Given the description of an element on the screen output the (x, y) to click on. 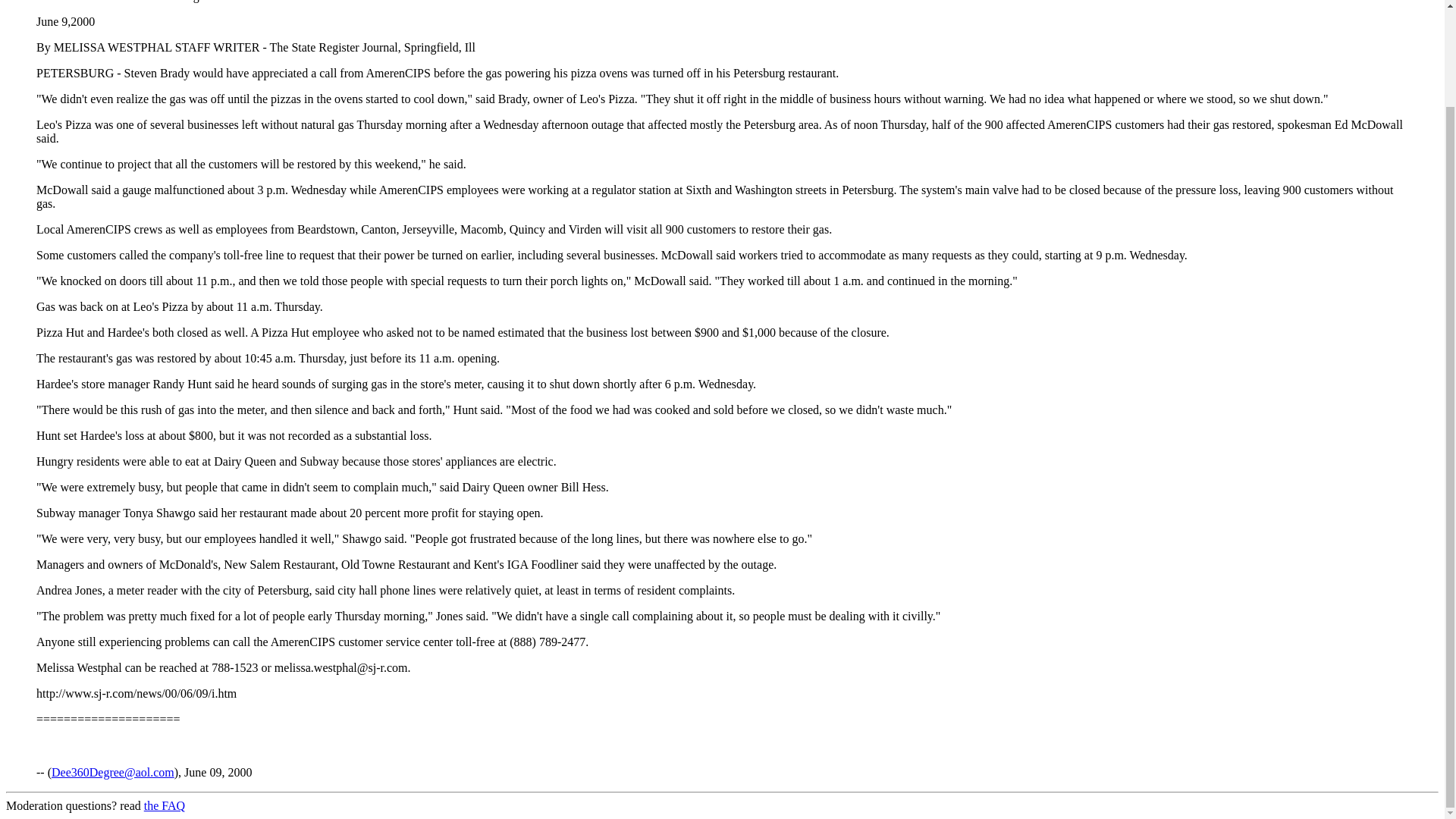
the FAQ (164, 805)
